Given the description of an element on the screen output the (x, y) to click on. 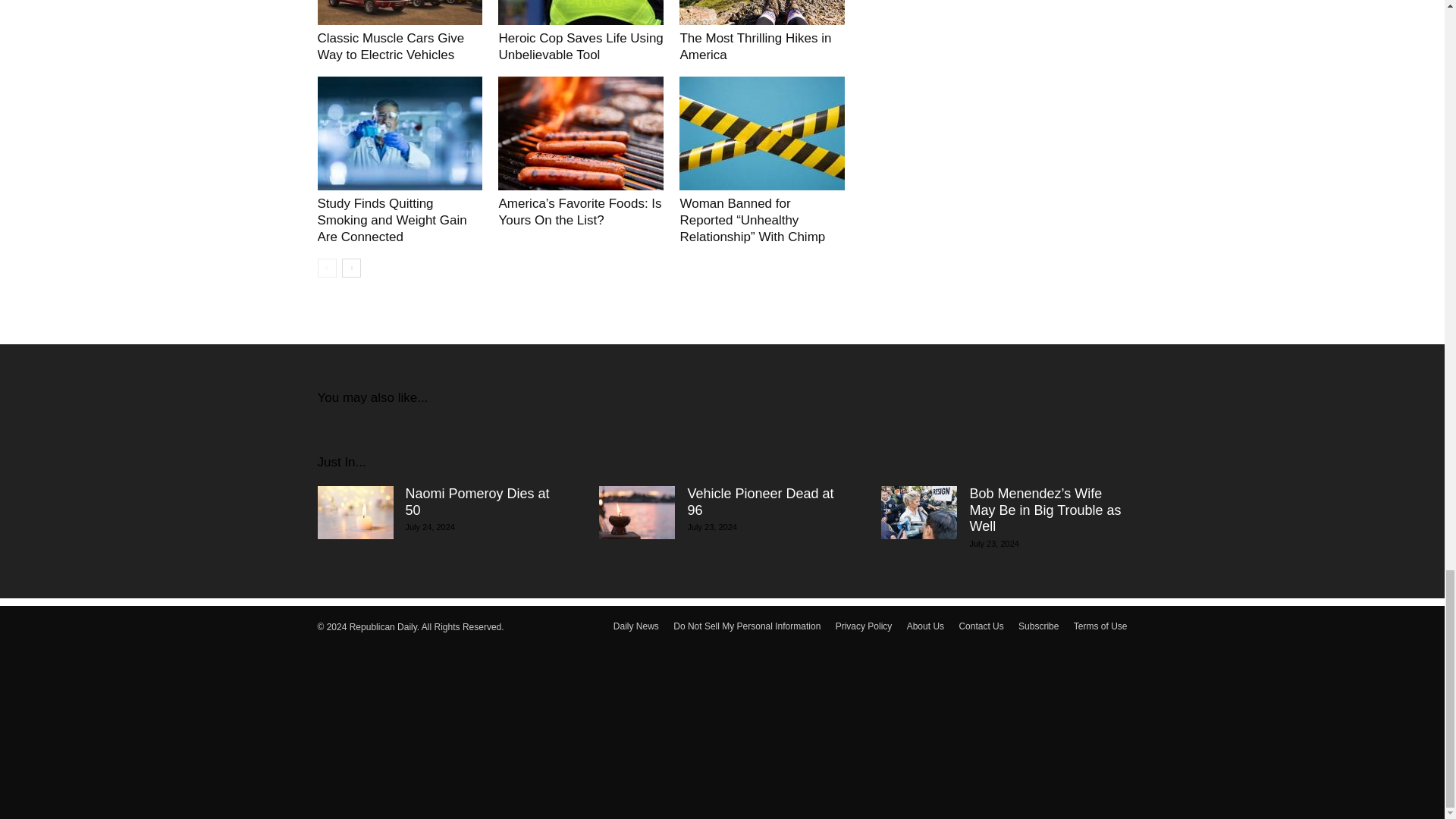
Classic Muscle Cars Give Way to Electric Vehicles (390, 46)
Study Finds Quitting Smoking and Weight Gain Are Connected (399, 133)
The Most Thrilling Hikes in America (755, 46)
The Most Thrilling Hikes in America (755, 46)
The Most Thrilling Hikes in America (761, 12)
Heroic Cop Saves Life Using Unbelievable Tool (579, 46)
Heroic Cop Saves Life Using Unbelievable Tool (580, 12)
Heroic Cop Saves Life Using Unbelievable Tool (579, 46)
Classic Muscle Cars Give Way to Electric Vehicles (399, 12)
Classic Muscle Cars Give Way to Electric Vehicles (390, 46)
Study Finds Quitting Smoking and Weight Gain Are Connected (391, 220)
